Given the description of an element on the screen output the (x, y) to click on. 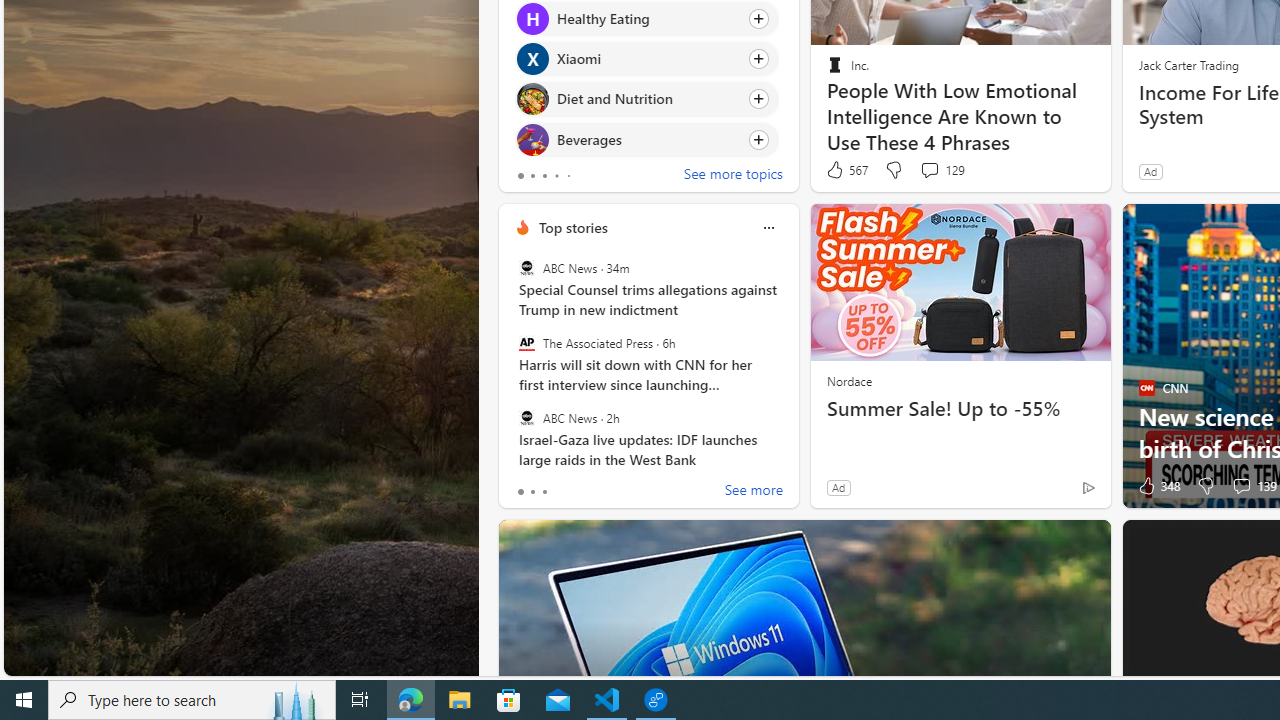
Click to follow topic Diet and Nutrition (646, 99)
View comments 129 Comment (929, 169)
Click to follow topic Healthy Eating (646, 18)
348 Like (1157, 485)
Beverages (532, 139)
View comments 129 Comment (941, 170)
tab-2 (543, 491)
See more topics (733, 175)
Top stories (572, 227)
